Given the description of an element on the screen output the (x, y) to click on. 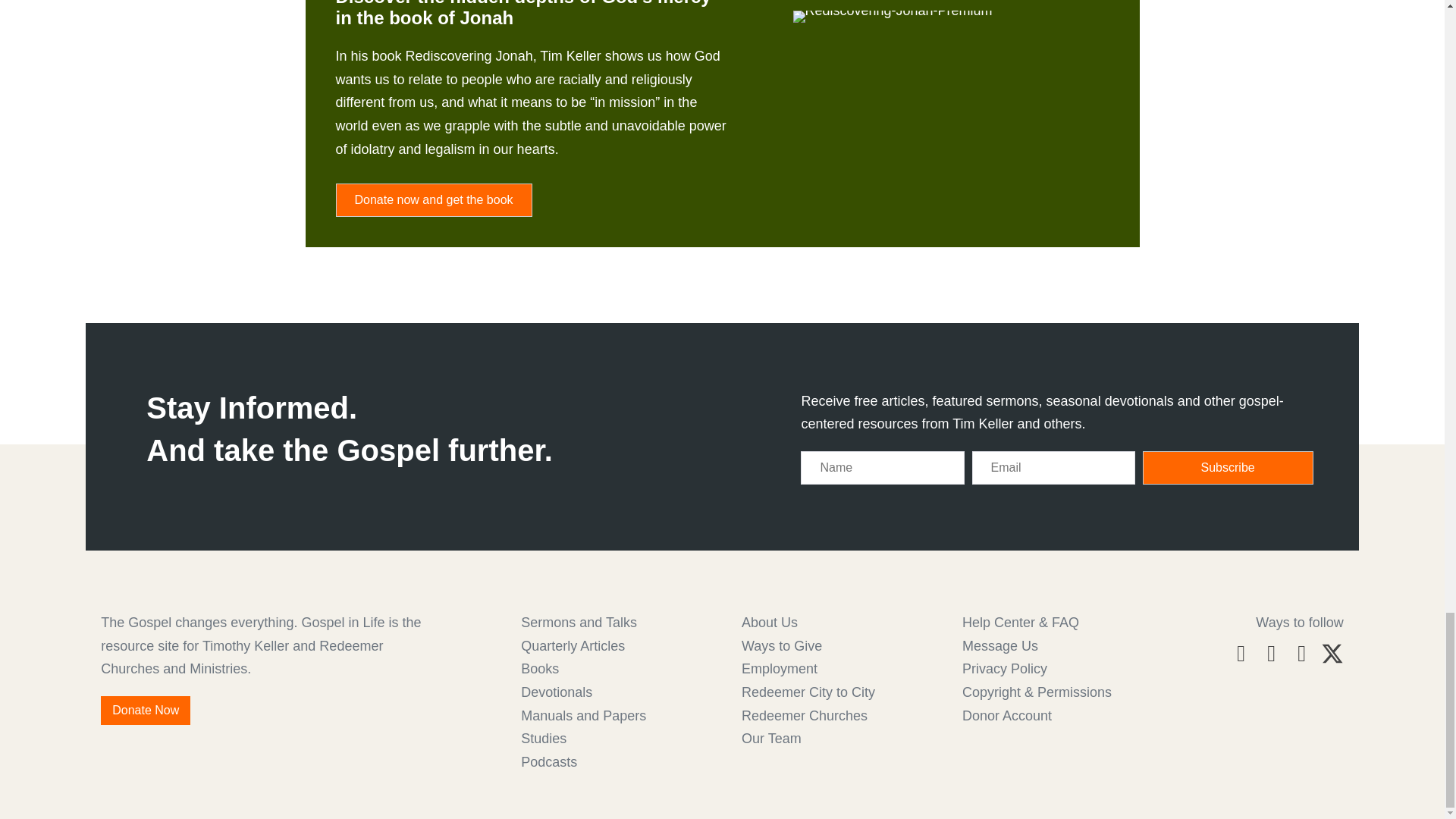
Rediscovering-Jonah-Premium (892, 16)
Instagram (1271, 653)
Facebook (1241, 653)
YouTube (1301, 653)
